Given the description of an element on the screen output the (x, y) to click on. 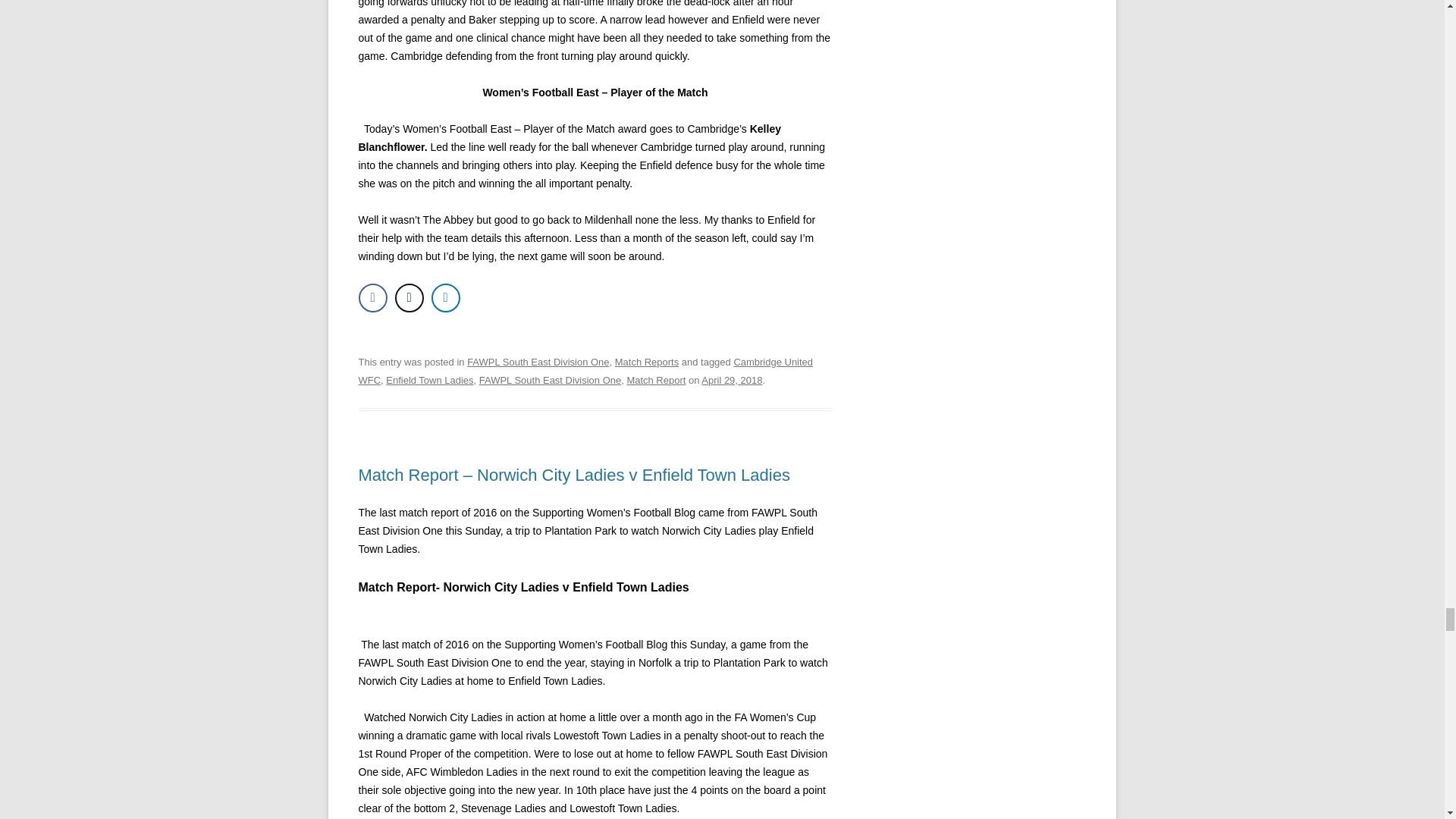
20:36 (731, 379)
